Given the description of an element on the screen output the (x, y) to click on. 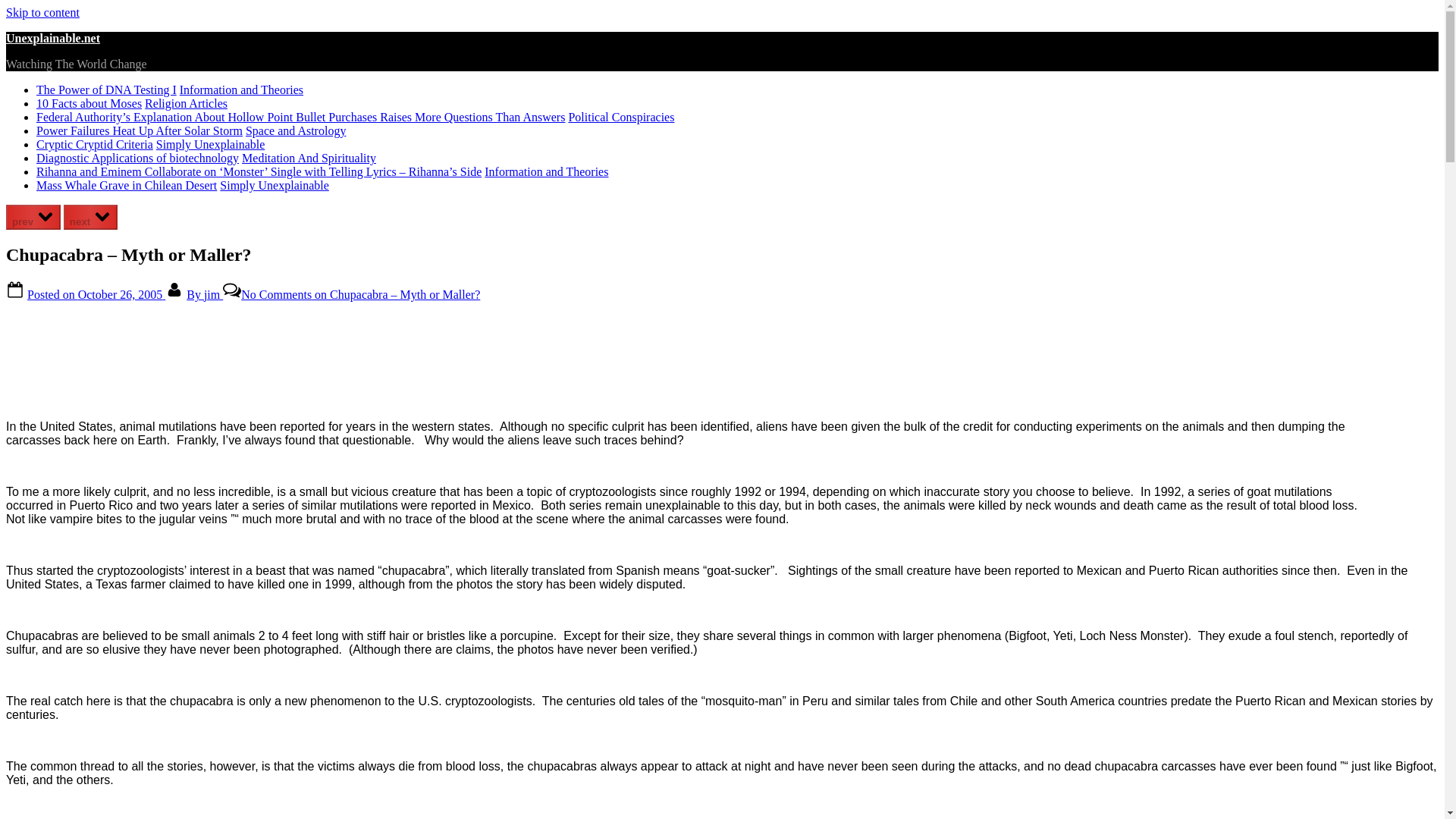
Unexplainable.net (52, 38)
Simply Unexplainable (209, 144)
Mass Whale Grave in Chilean Desert (126, 185)
Information and Theories (240, 89)
Cryptic Cryptid Criteria (94, 144)
Information and Theories (546, 171)
Religion Articles (185, 103)
Skip to content (42, 11)
The Power of DNA Testing I (106, 89)
Simply Unexplainable (274, 185)
